Given the description of an element on the screen output the (x, y) to click on. 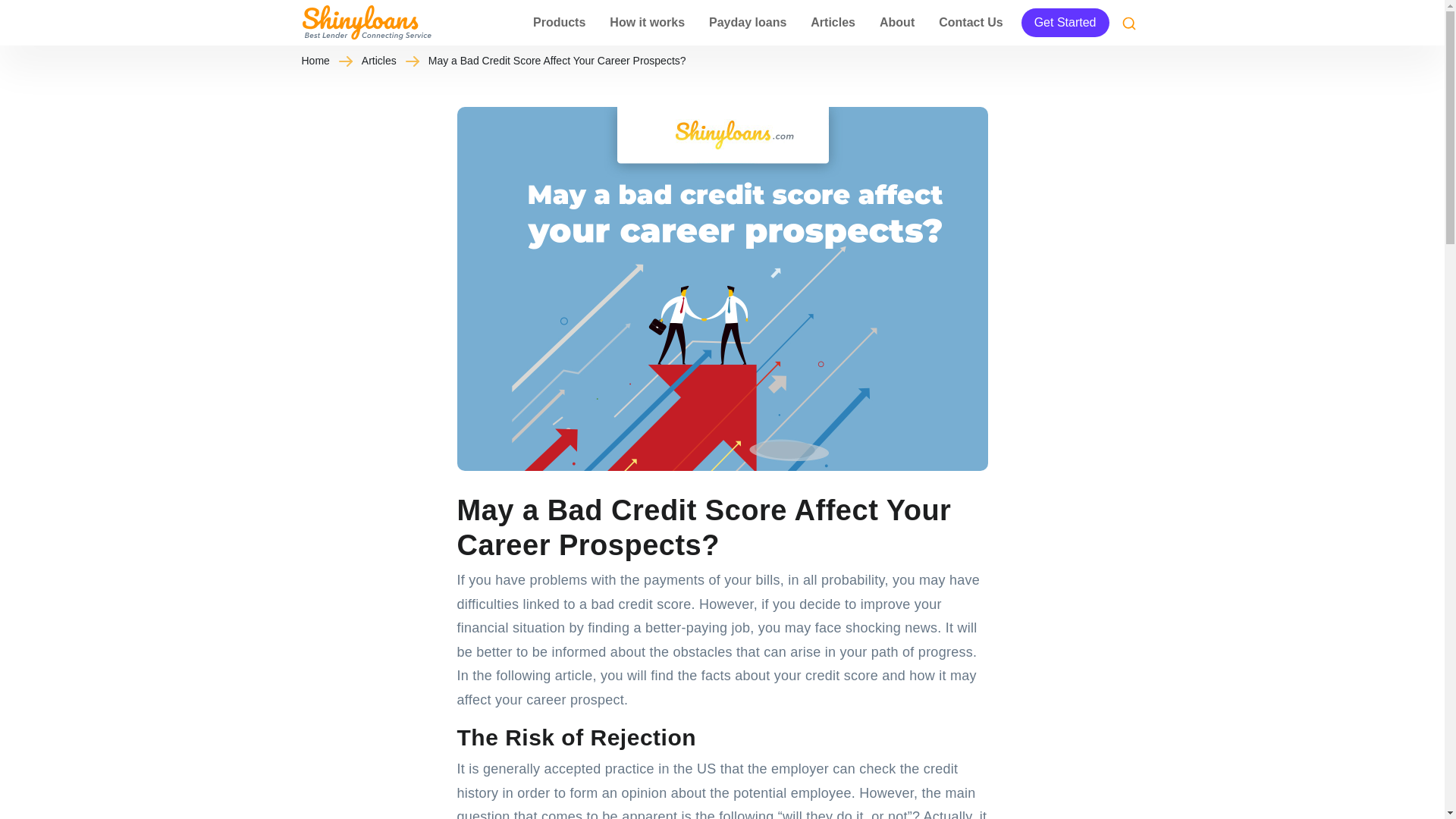
Articles (832, 22)
Products (558, 22)
Search (1128, 22)
Articles (390, 60)
Home (326, 60)
About (896, 22)
How it works (646, 22)
Get Started (1065, 22)
Payday loans (747, 22)
Contact Us (970, 22)
